Given the description of an element on the screen output the (x, y) to click on. 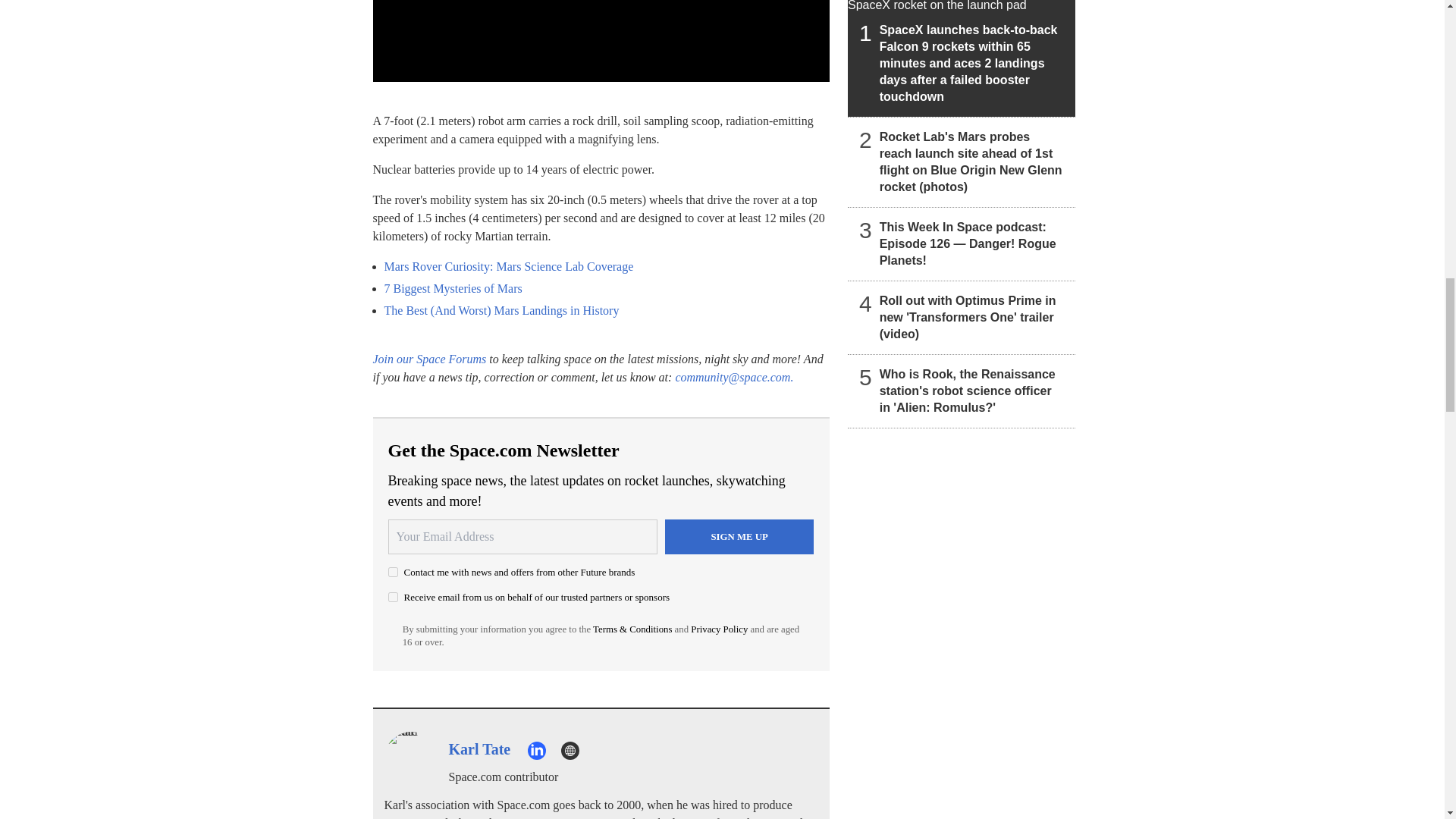
Sign me up (739, 536)
on (392, 596)
on (392, 572)
